Given the description of an element on the screen output the (x, y) to click on. 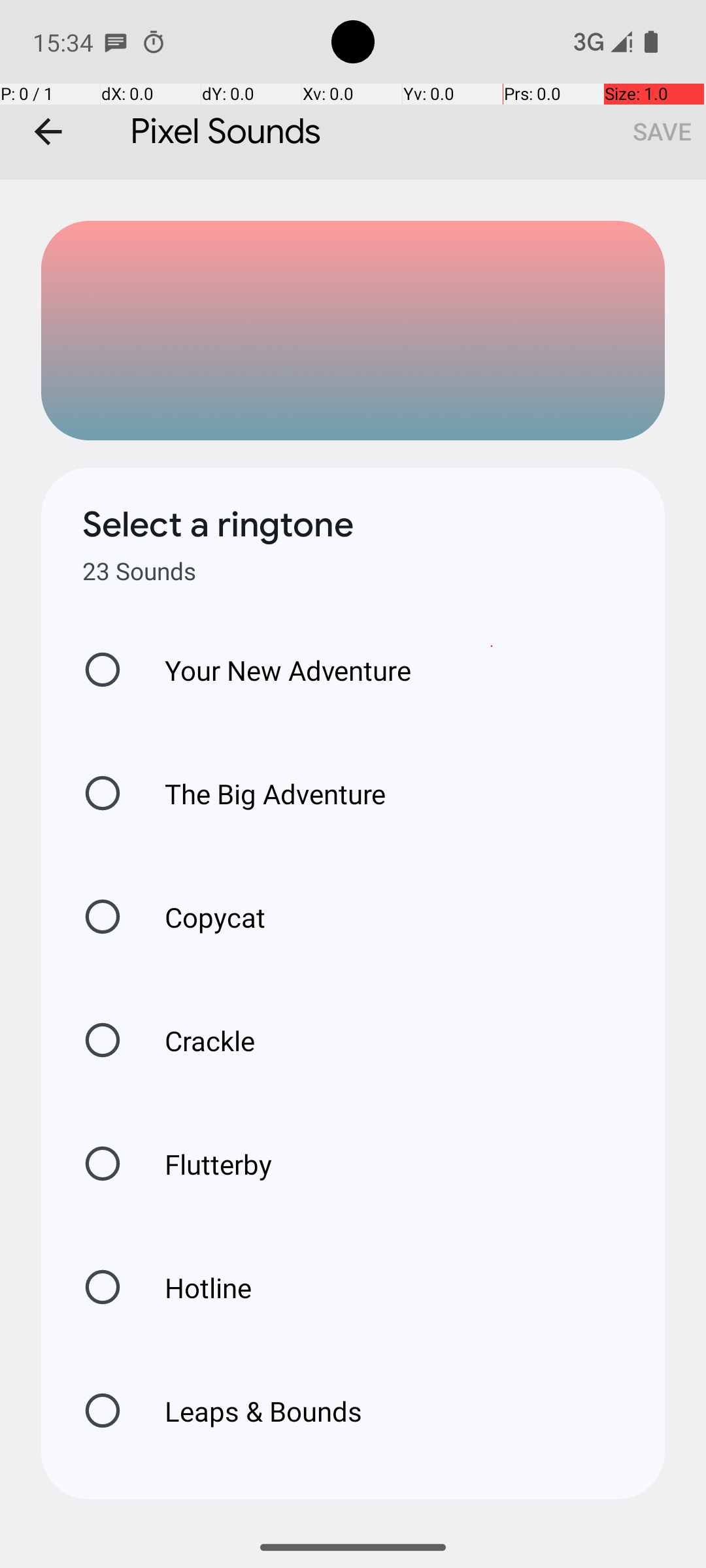
Your New Adventure Element type: android.widget.TextView (274, 669)
The Big Adventure Element type: android.widget.TextView (261, 793)
Copycat Element type: android.widget.TextView (201, 916)
Crackle Element type: android.widget.TextView (196, 1040)
Flutterby Element type: android.widget.TextView (204, 1163)
Hotline Element type: android.widget.TextView (194, 1287)
Leaps & Bounds Element type: android.widget.TextView (249, 1410)
